Given the description of an element on the screen output the (x, y) to click on. 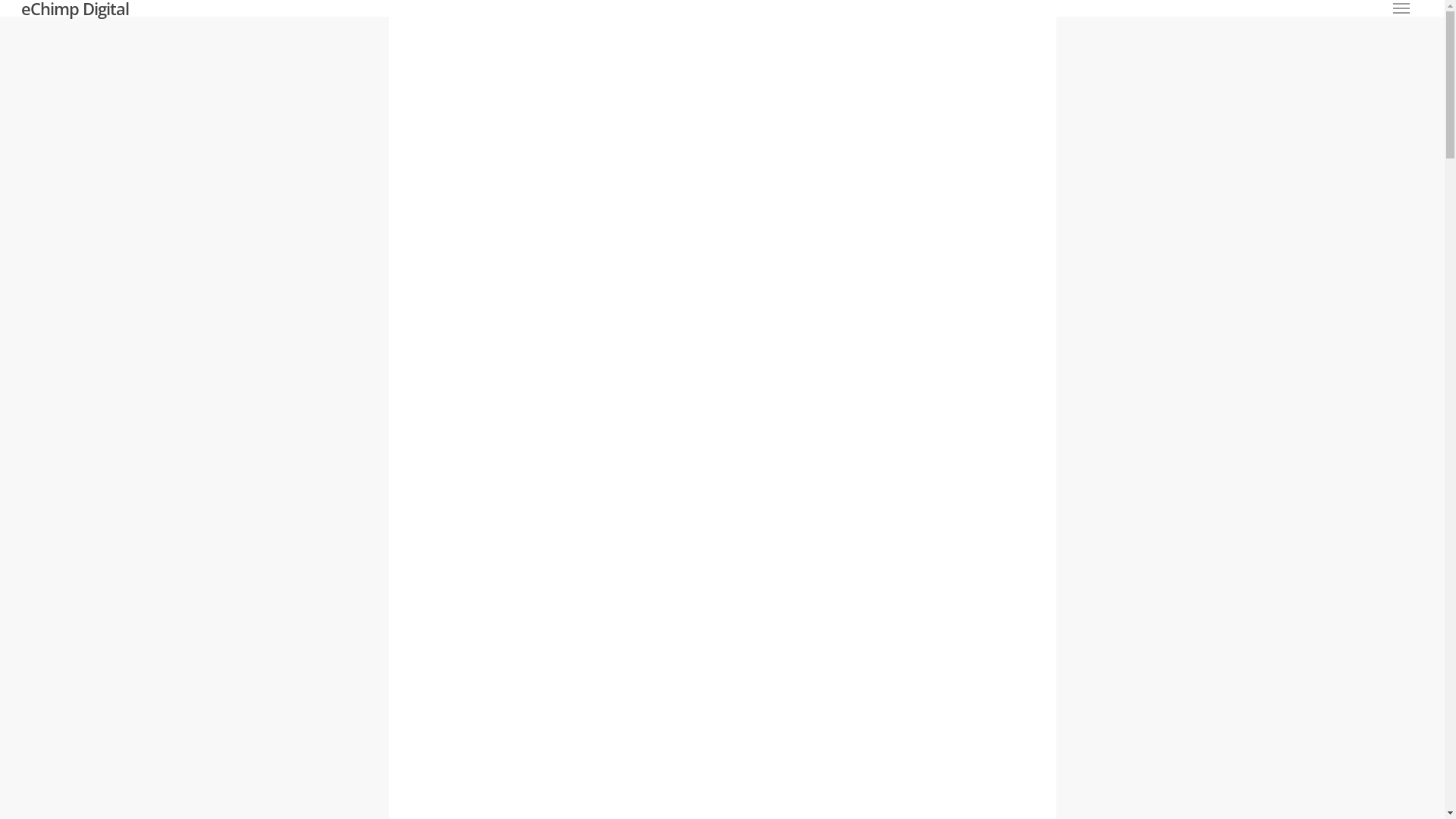
eChimp Digital Element type: text (74, 8)
Menu Element type: text (1401, 7)
